Given the description of an element on the screen output the (x, y) to click on. 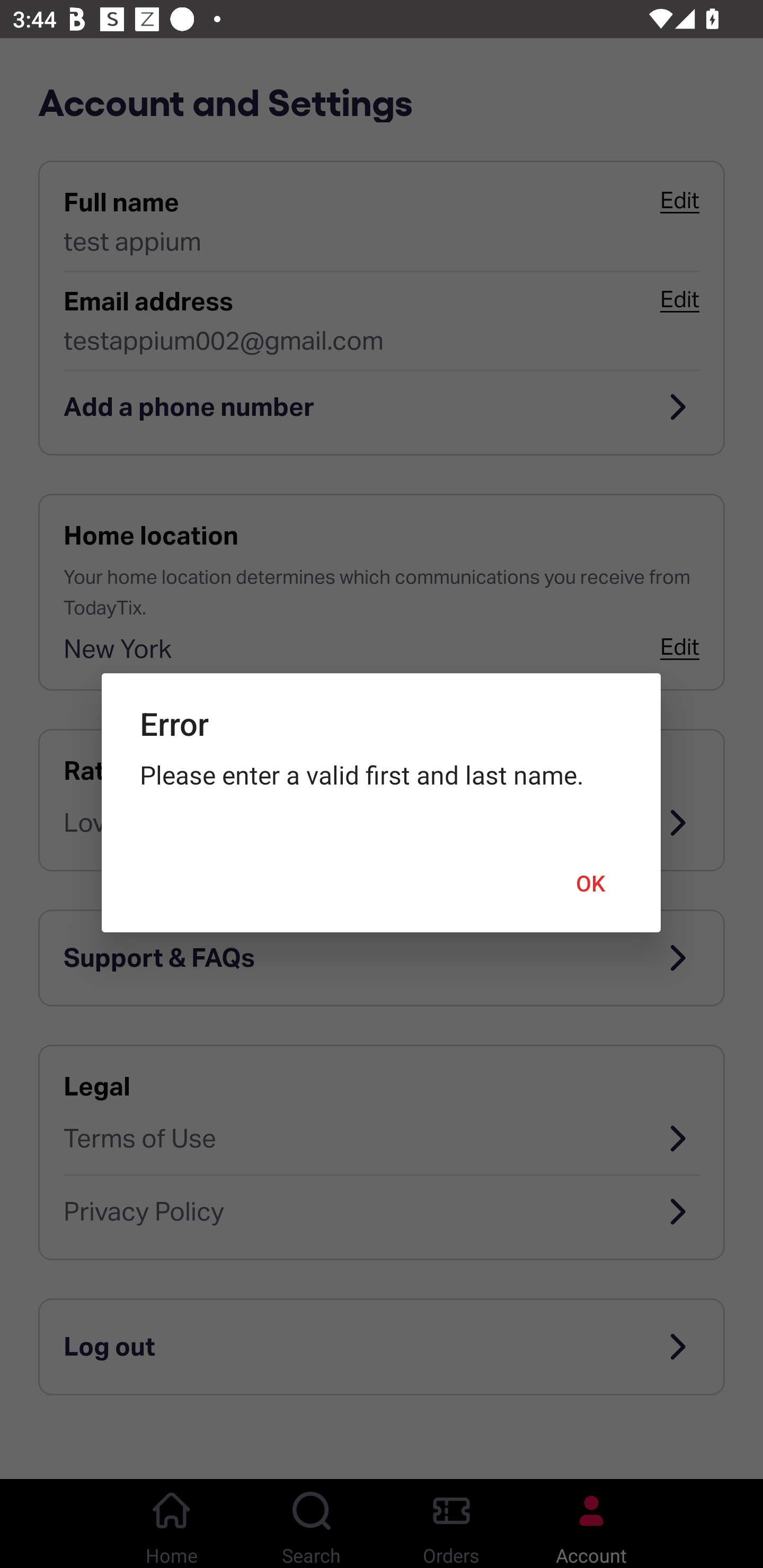
OK (590, 883)
